Given the description of an element on the screen output the (x, y) to click on. 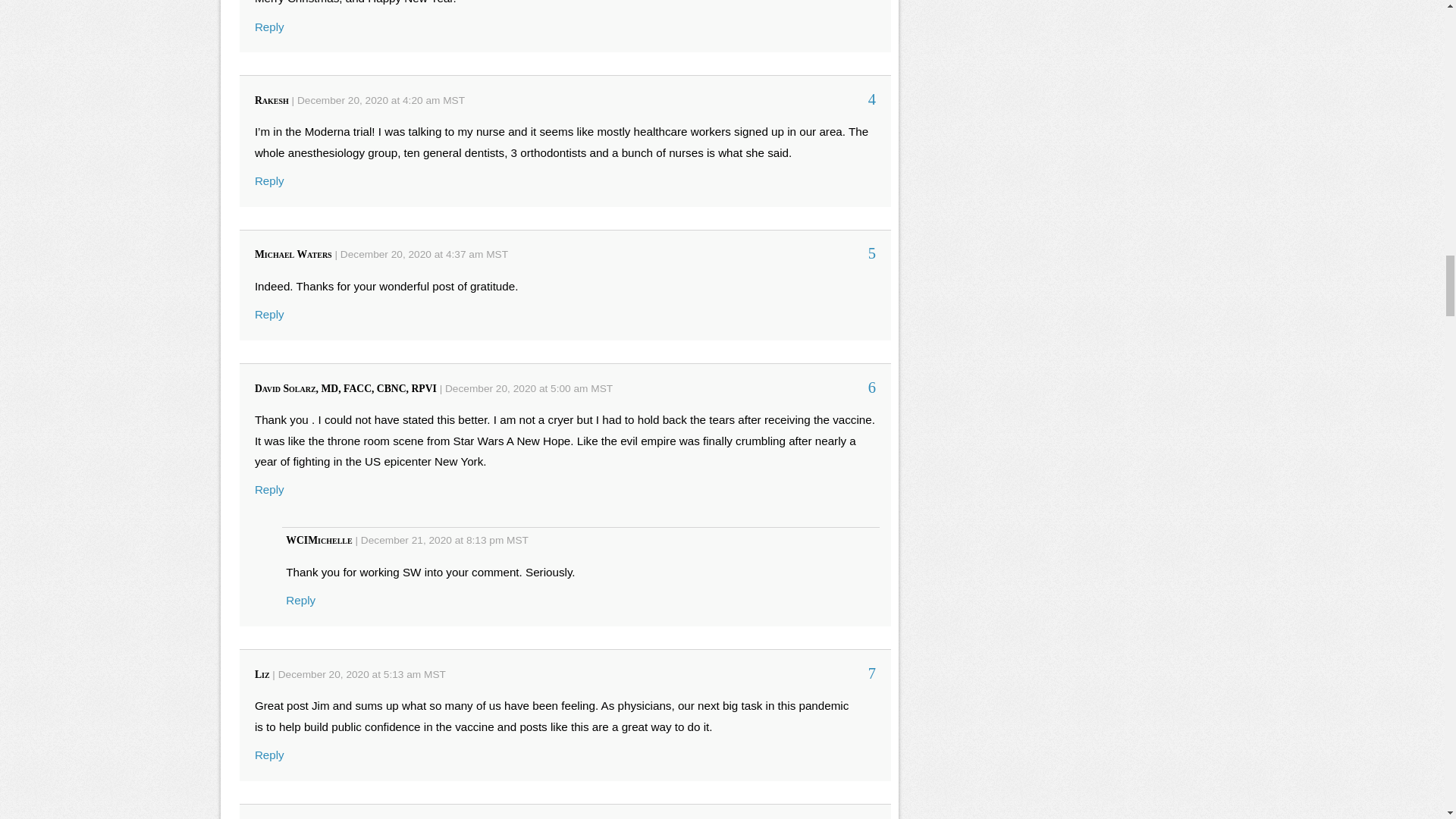
Mountain Standard Time (434, 674)
Mountain Standard Time (601, 388)
Mountain Standard Time (453, 100)
Mountain Standard Time (517, 540)
Mountain Standard Time (497, 254)
